Given the description of an element on the screen output the (x, y) to click on. 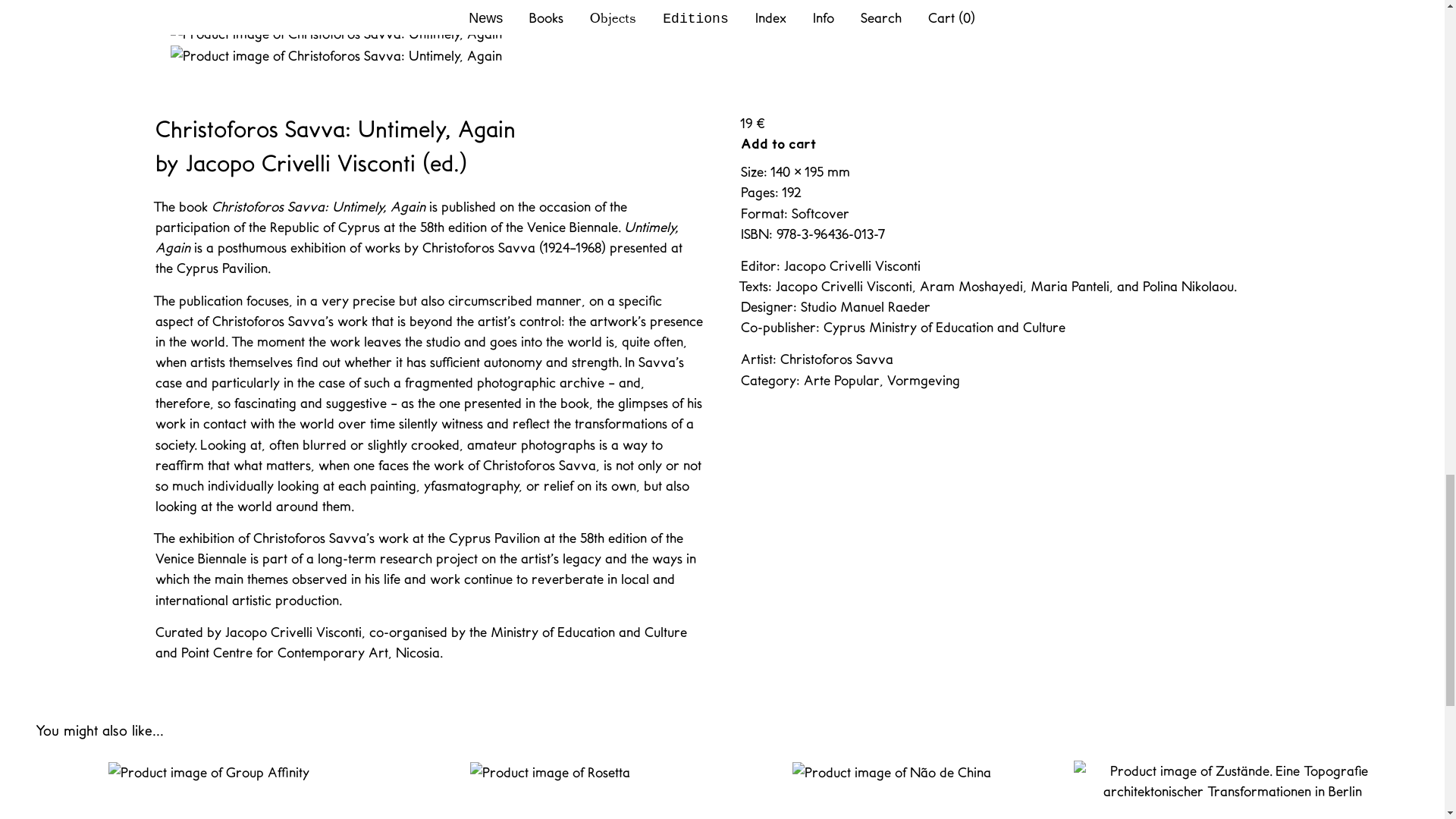
Vormgeving (922, 380)
Rosetta (549, 789)
Add to cart (778, 143)
Group Affinity (208, 789)
Arte Popular (841, 380)
